Given the description of an element on the screen output the (x, y) to click on. 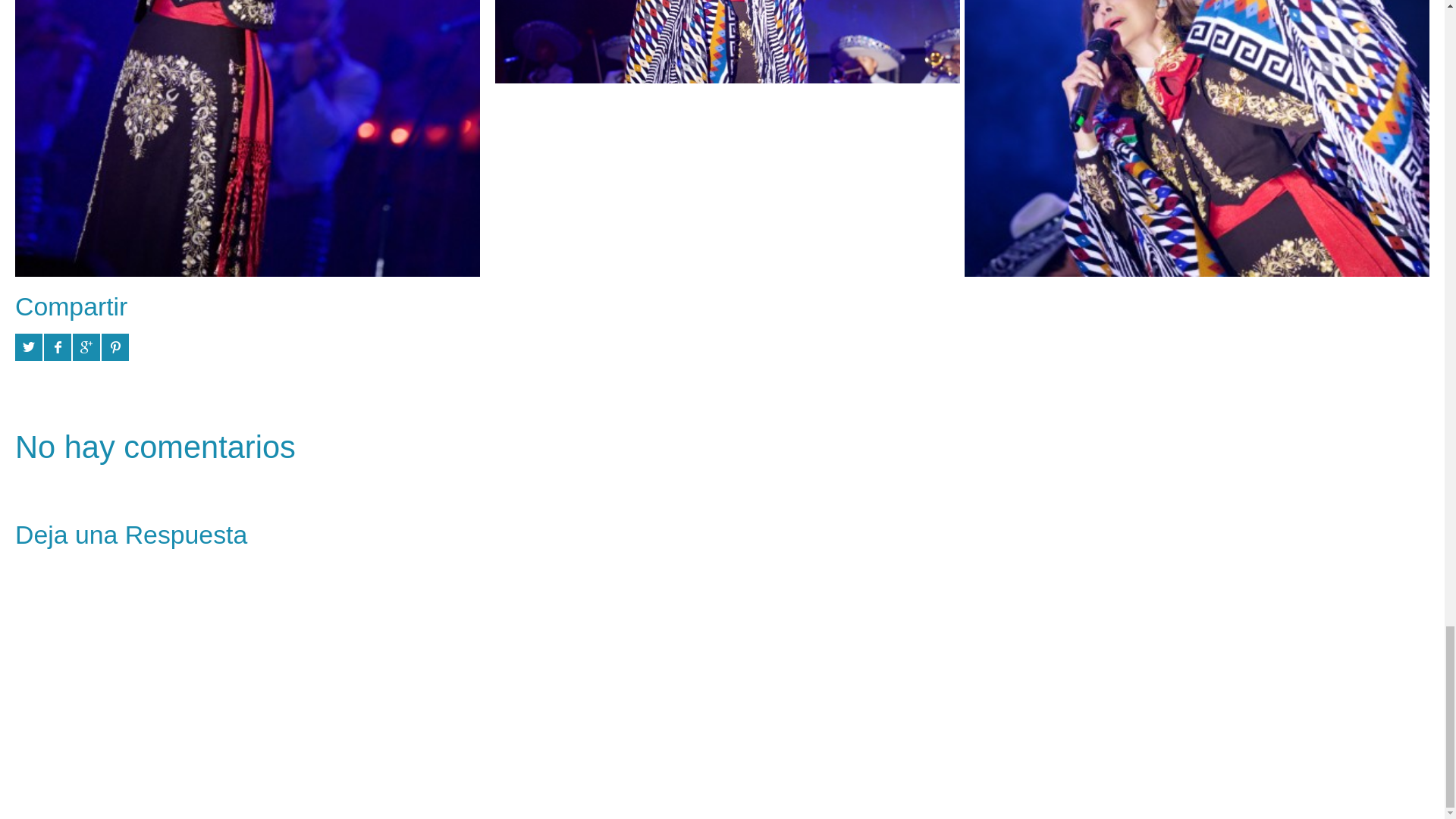
YouTube (1324, 705)
Pinearlo (115, 347)
Twittear Esto (28, 347)
Amazon (1296, 705)
Twitter (1241, 705)
Compartir en Facebook (57, 347)
Connect MKT (427, 703)
ingresado al sistema (132, 569)
Twitter (1241, 705)
Facebook (1268, 705)
